Given the description of an element on the screen output the (x, y) to click on. 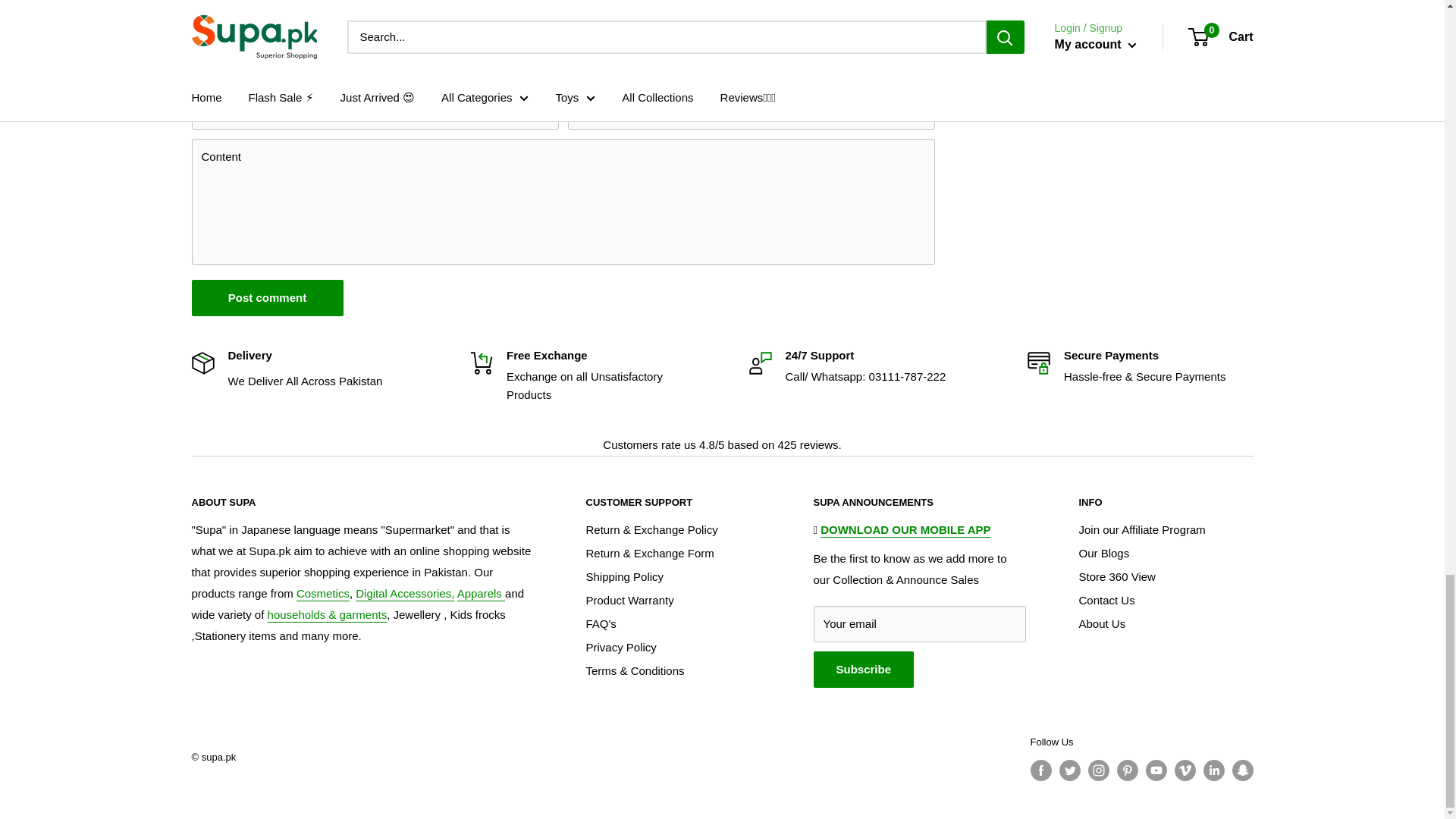
Cosmetics (323, 593)
household (327, 614)
Apparels (481, 593)
Digital Accessories (404, 593)
